Given the description of an element on the screen output the (x, y) to click on. 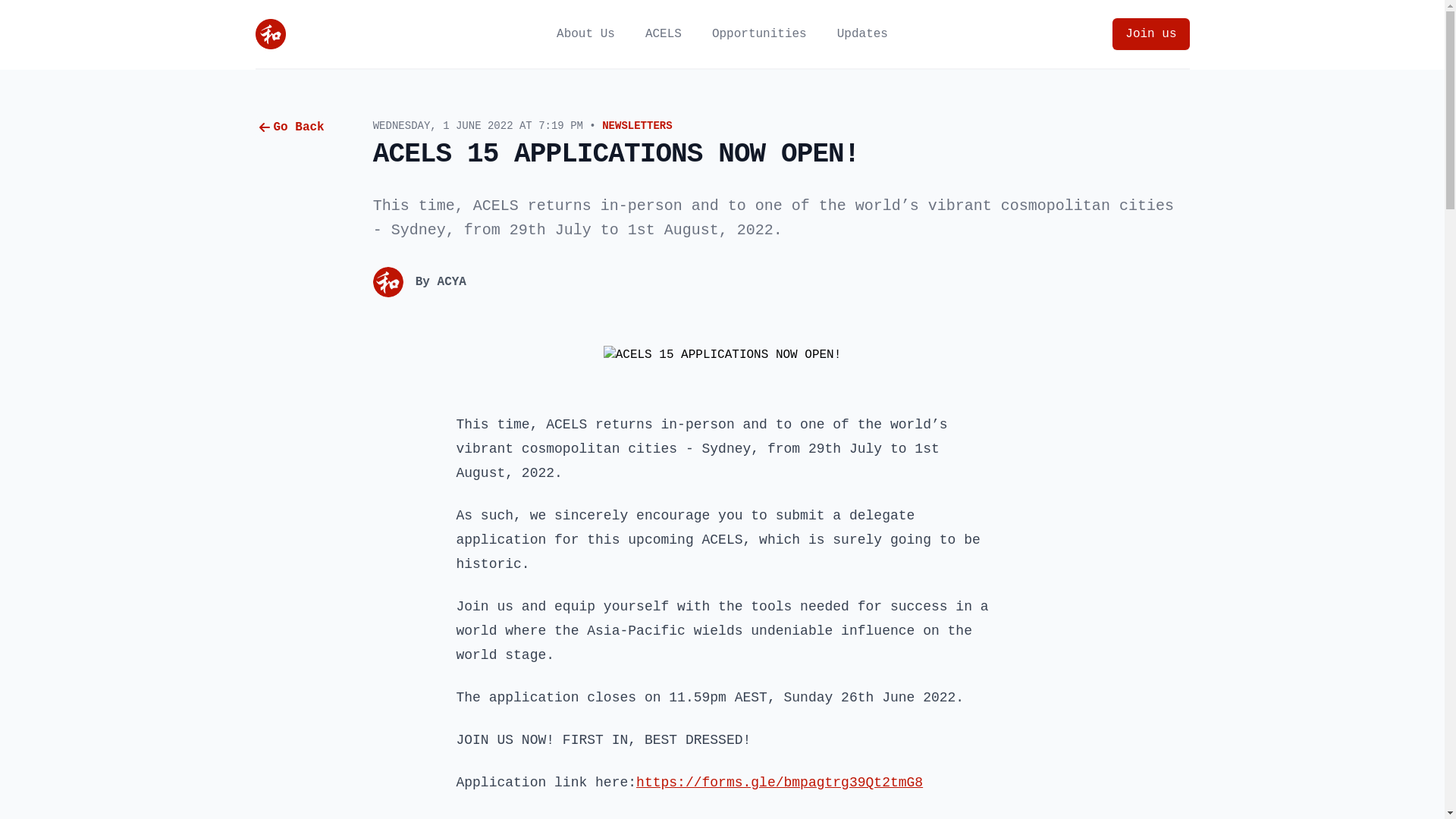
About Us Element type: text (585, 34)
Opportunities Element type: text (759, 34)
ACYA Logo Element type: text (269, 33)
Updates Element type: text (862, 34)
Join us Element type: text (1150, 34)
https://forms.gle/bmpagtrg39Qt2tmG8 Element type: text (779, 782)
ACELS Element type: text (663, 34)
